Given the description of an element on the screen output the (x, y) to click on. 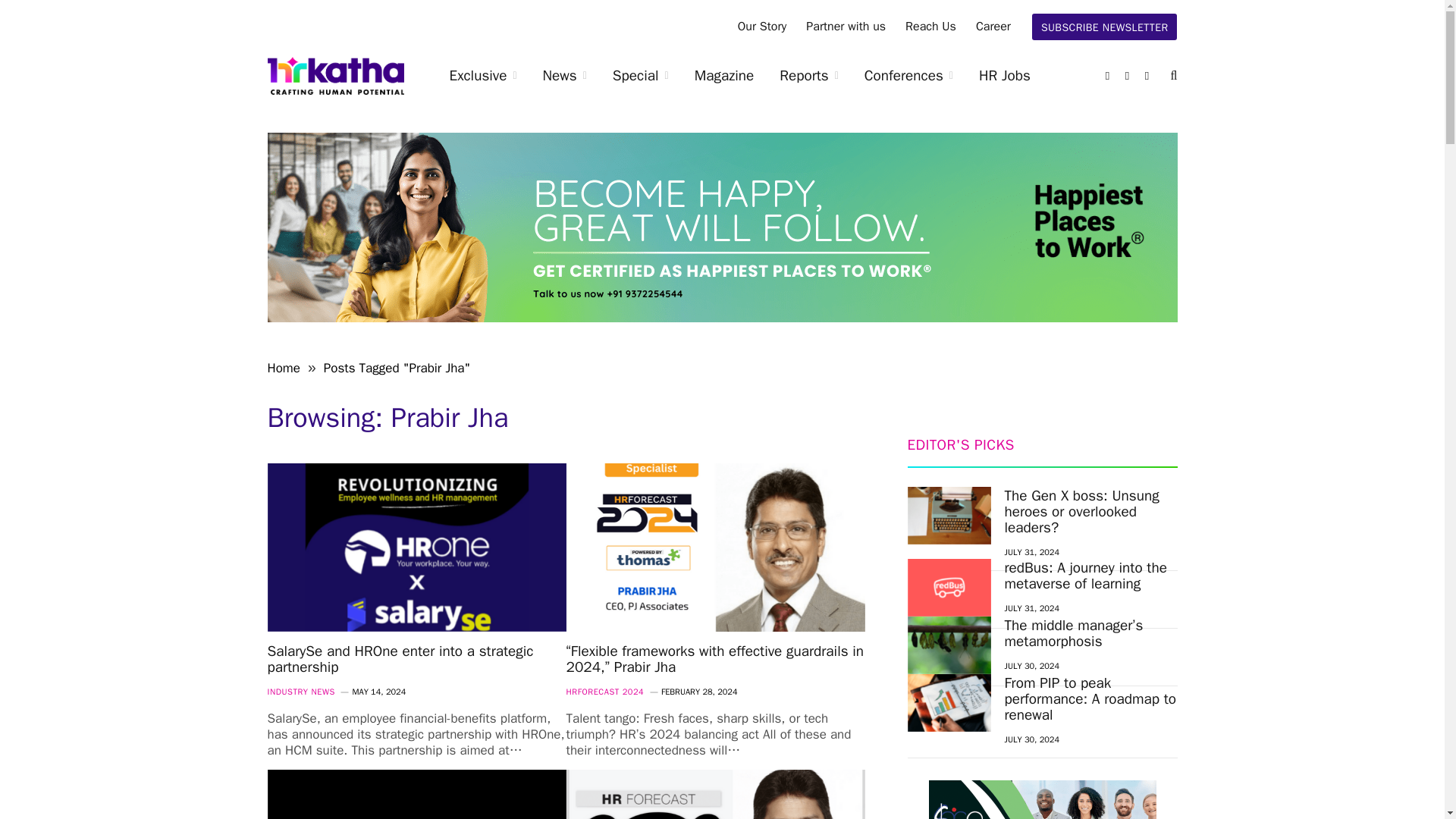
News (564, 75)
SUBSCRIBE NEWSLETTER (1104, 26)
Our Story (762, 26)
SalarySe and HROne enter into a strategic partnership (416, 547)
HR Katha (334, 76)
Special (640, 75)
Reach Us (930, 26)
Exclusive (482, 75)
Career (993, 26)
Partner with us (845, 26)
